Given the description of an element on the screen output the (x, y) to click on. 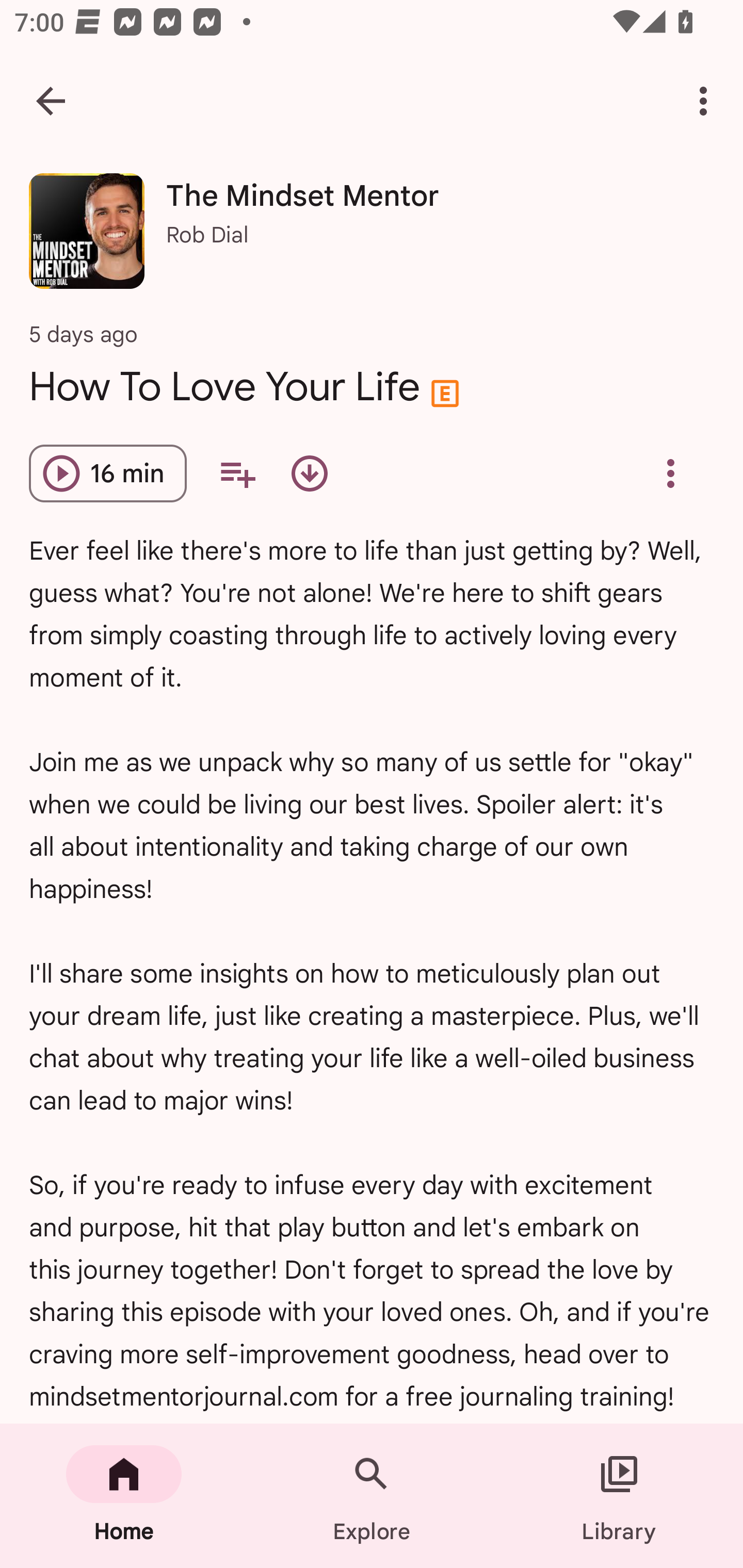
Navigate up (50, 101)
More options (706, 101)
The Mindset Mentor The Mindset Mentor Rob Dial (371, 238)
Play episode How To Love Your Life 16 min (107, 473)
Add to your queue (237, 473)
Download episode (309, 473)
Overflow menu (670, 473)
Explore (371, 1495)
Library (619, 1495)
